Given the description of an element on the screen output the (x, y) to click on. 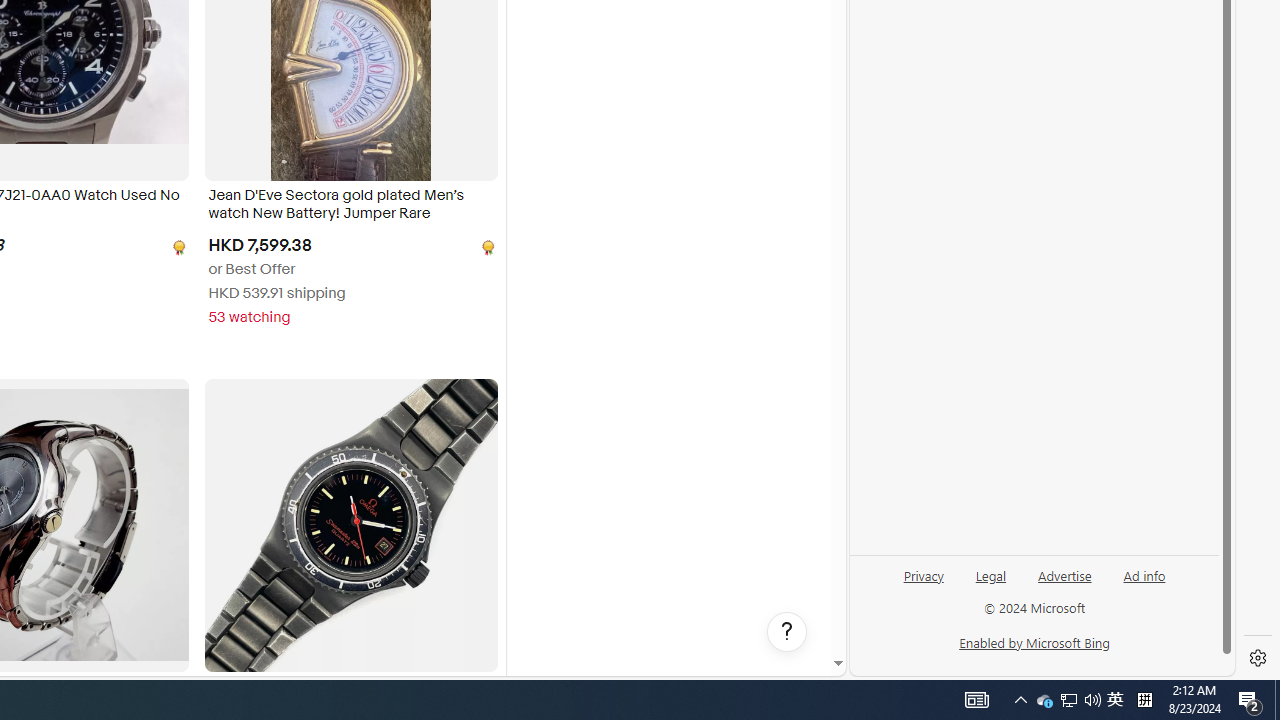
[object Undefined] (486, 246)
Help, opens dialogs (787, 632)
